Given the description of an element on the screen output the (x, y) to click on. 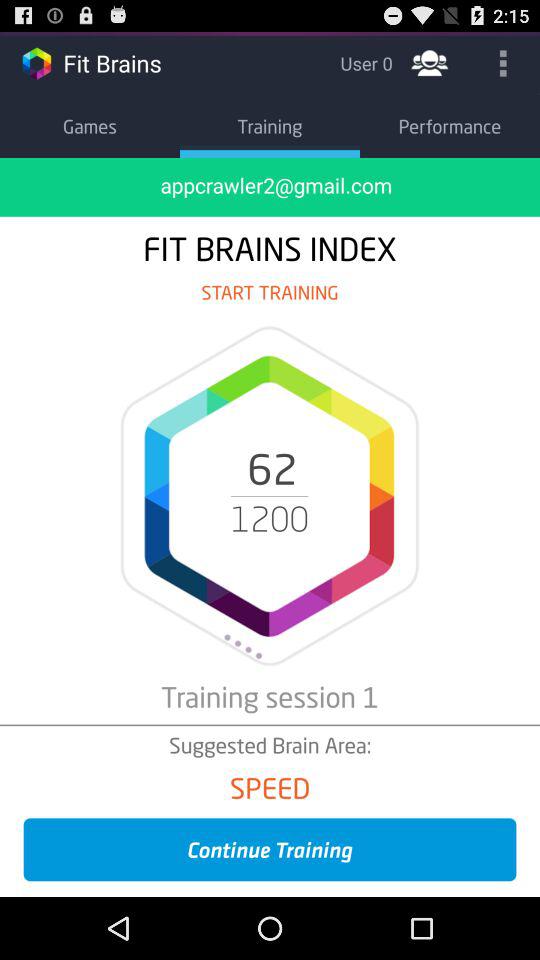
tap item above the performance (429, 62)
